Given the description of an element on the screen output the (x, y) to click on. 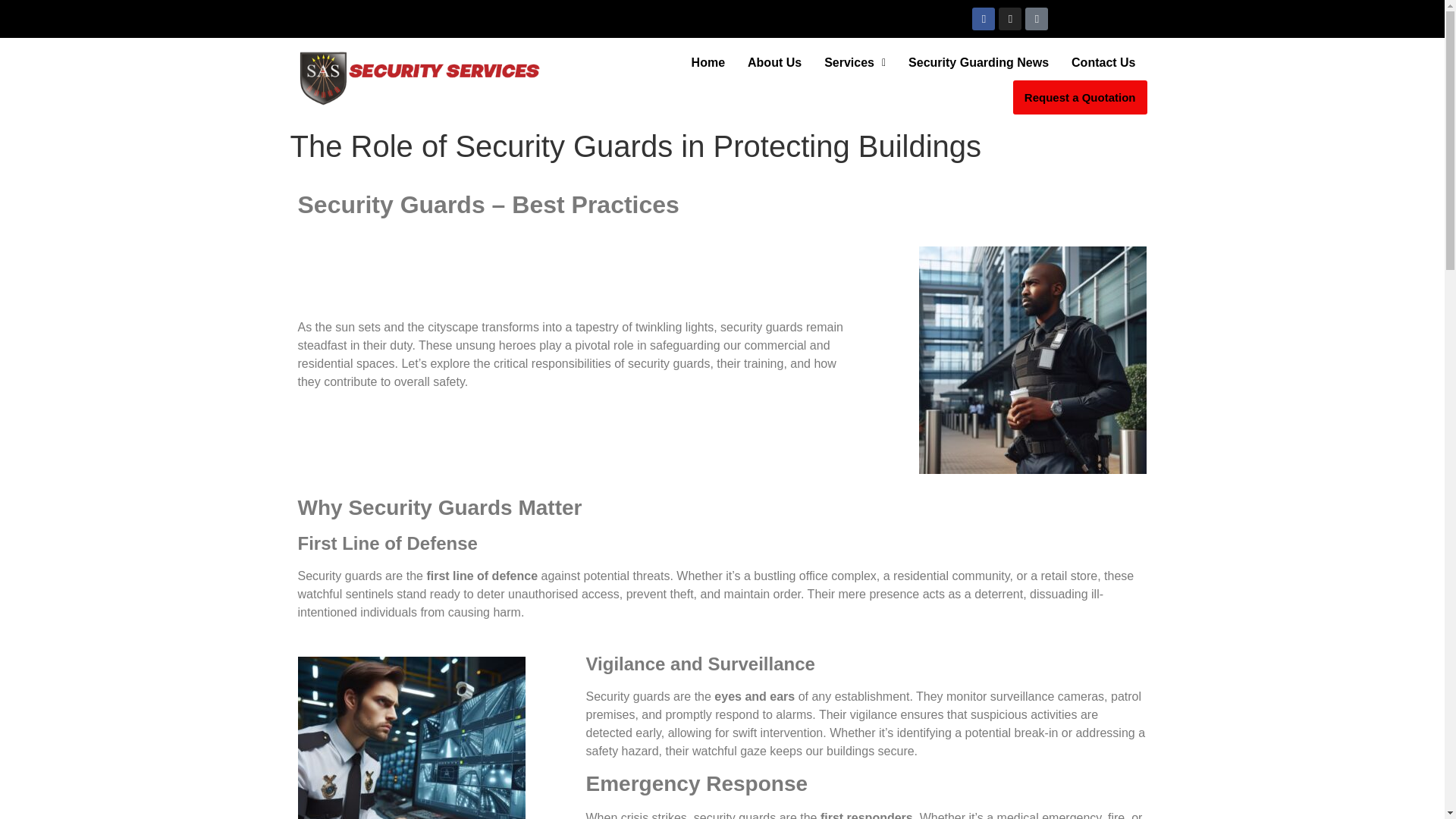
Contact Us (1103, 62)
Security Guarding News (977, 62)
Services (854, 62)
About Us (774, 62)
Request a Quotation (1080, 97)
Home (707, 62)
